Given the description of an element on the screen output the (x, y) to click on. 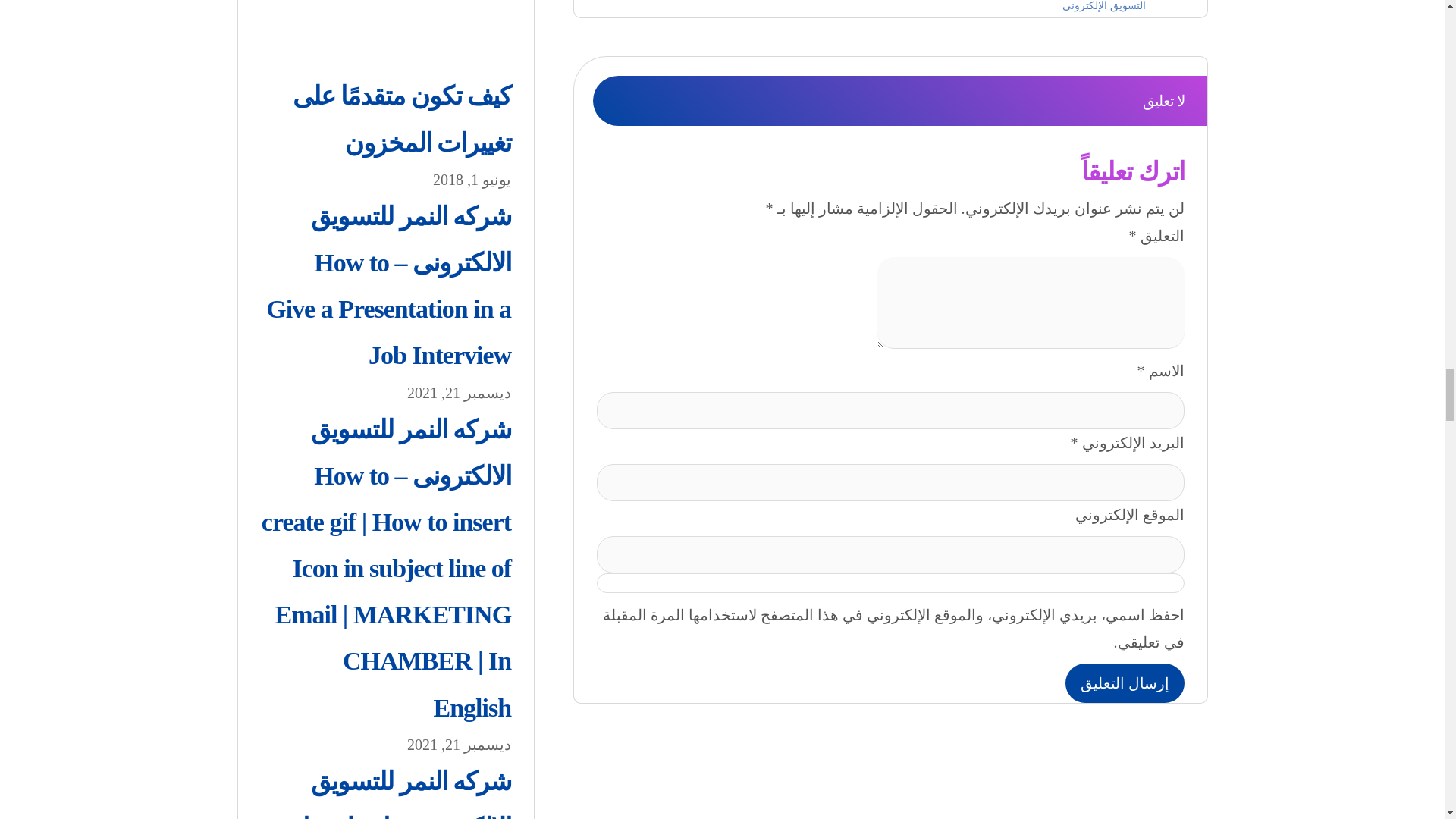
yes (889, 582)
